Given the description of an element on the screen output the (x, y) to click on. 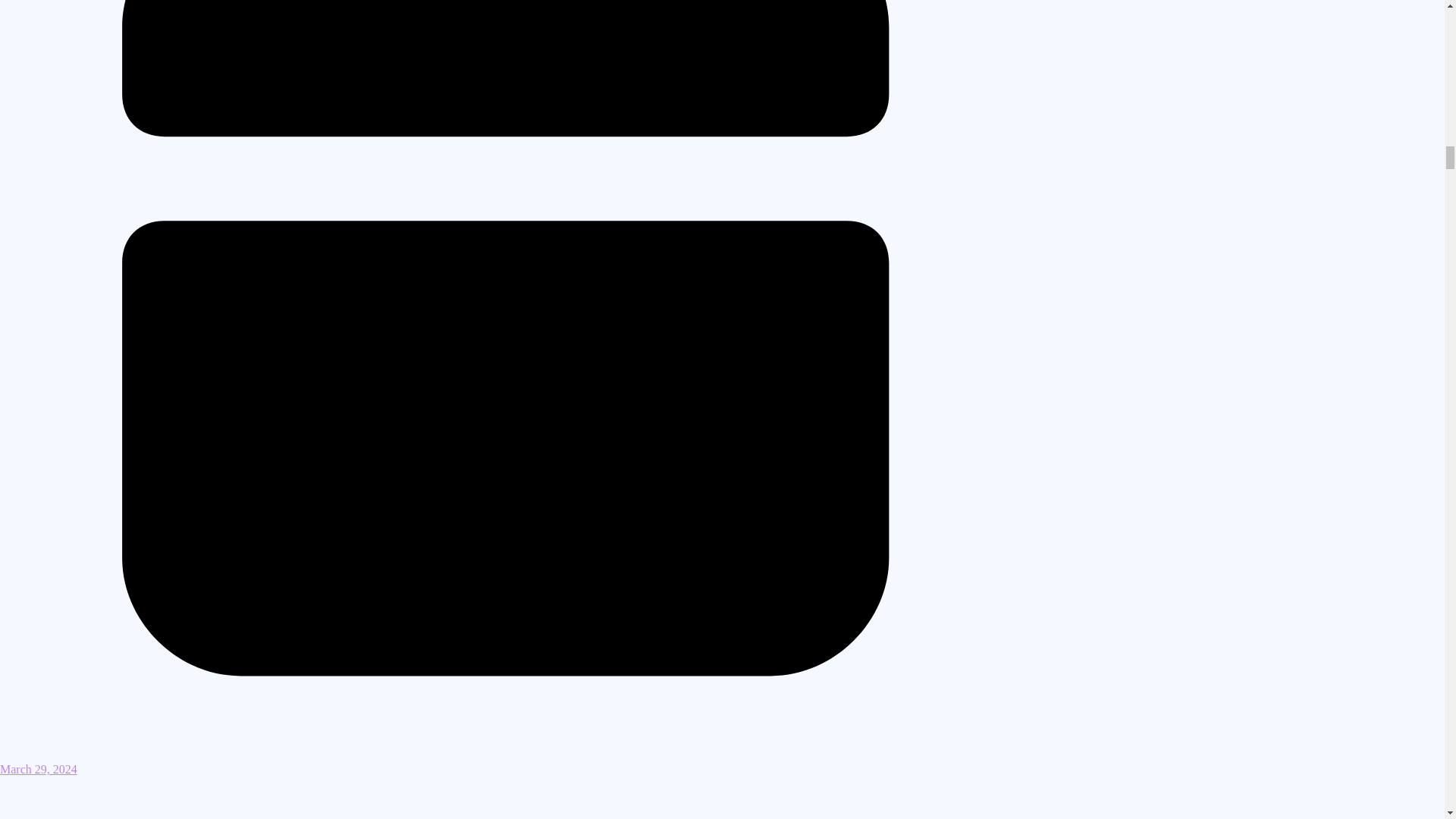
March 29, 2024 (505, 762)
